Given the description of an element on the screen output the (x, y) to click on. 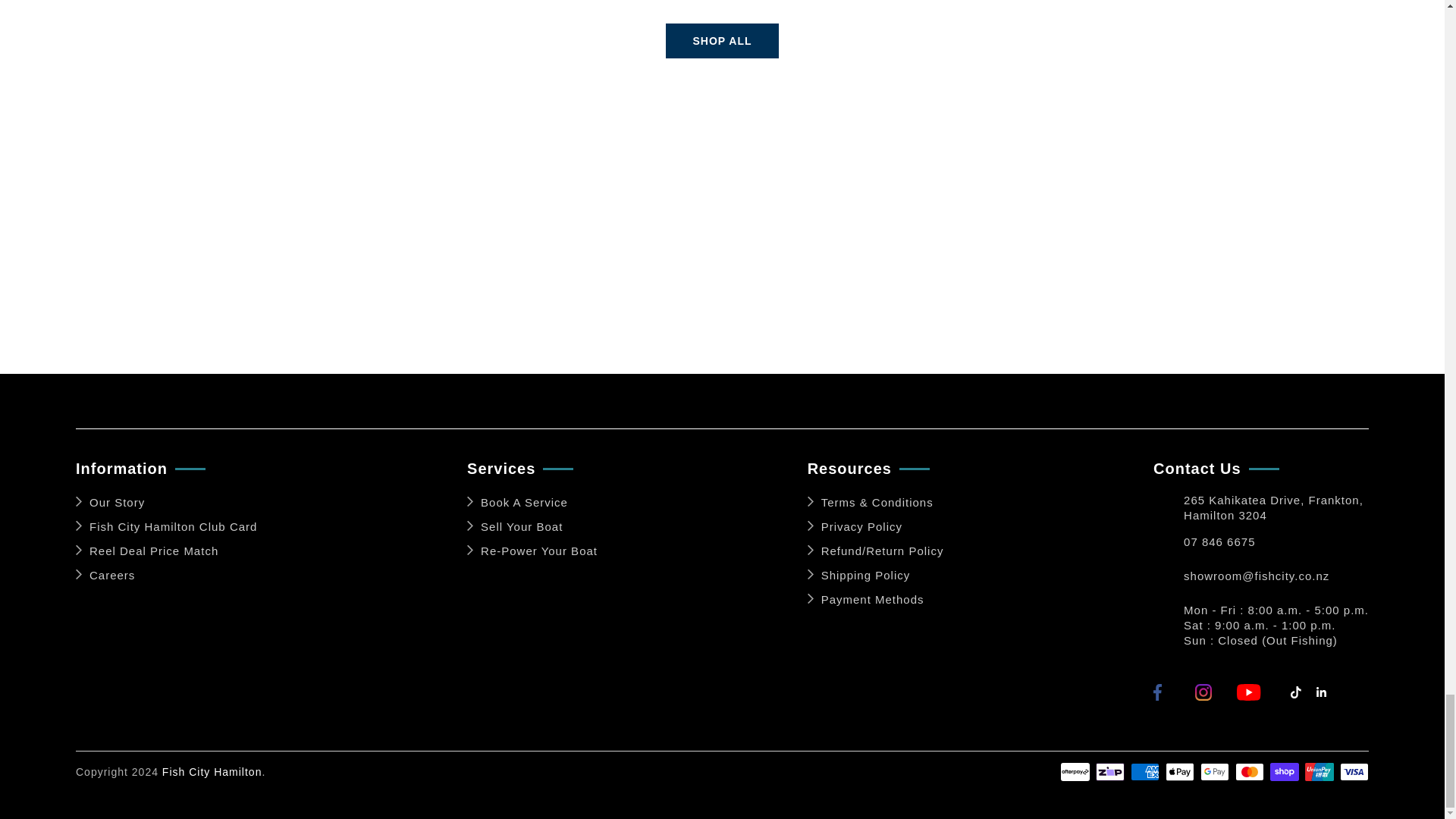
Contact Us (1168, 579)
Contact Us (1168, 508)
07 846 6675 (1219, 545)
Contact Us (1168, 545)
